Given the description of an element on the screen output the (x, y) to click on. 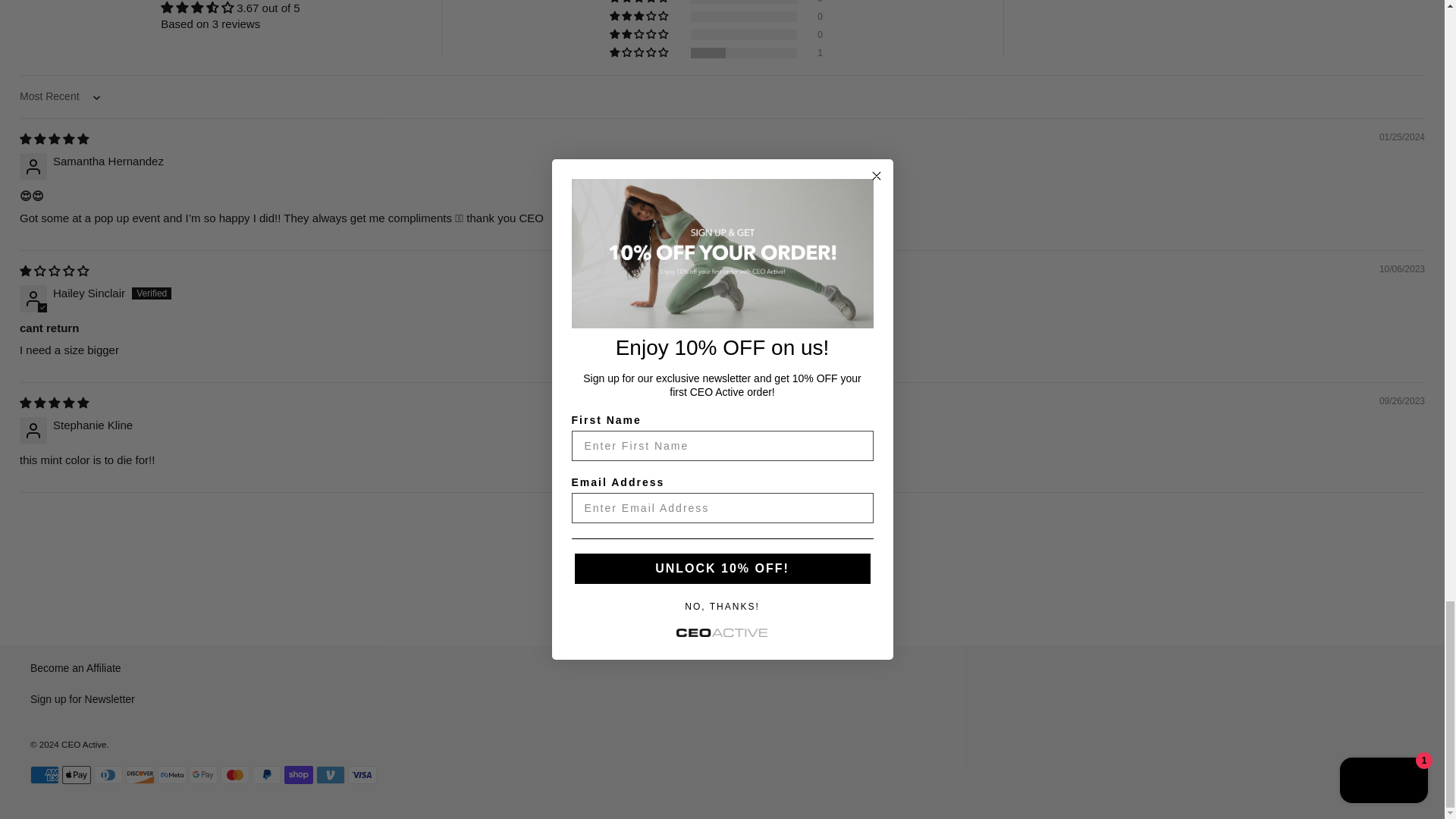
Become an Affiliate (75, 667)
Meta Pay (171, 774)
Sign up for Newsletter (82, 698)
CEO Active (83, 744)
Google Pay (202, 774)
American Express (44, 774)
PayPal (266, 774)
Shop Pay (298, 774)
Diners Club (108, 774)
Discover (139, 774)
Apple Pay (76, 774)
Mastercard (234, 774)
